Given the description of an element on the screen output the (x, y) to click on. 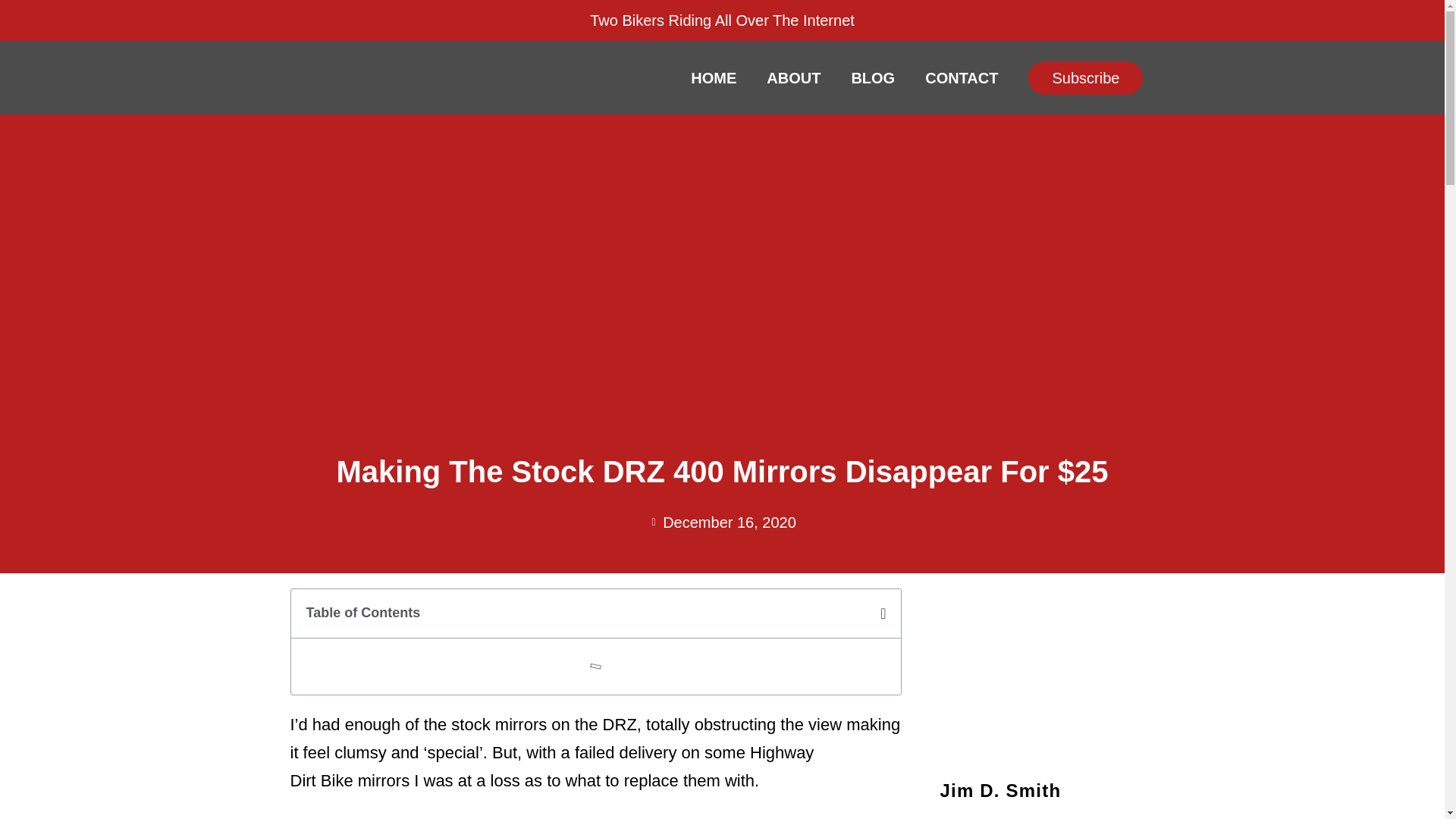
December 16, 2020 (721, 522)
HOME (713, 77)
Subscribe (1084, 78)
CONTACT (961, 77)
ABOUT (793, 77)
BLOG (872, 77)
